Given the description of an element on the screen output the (x, y) to click on. 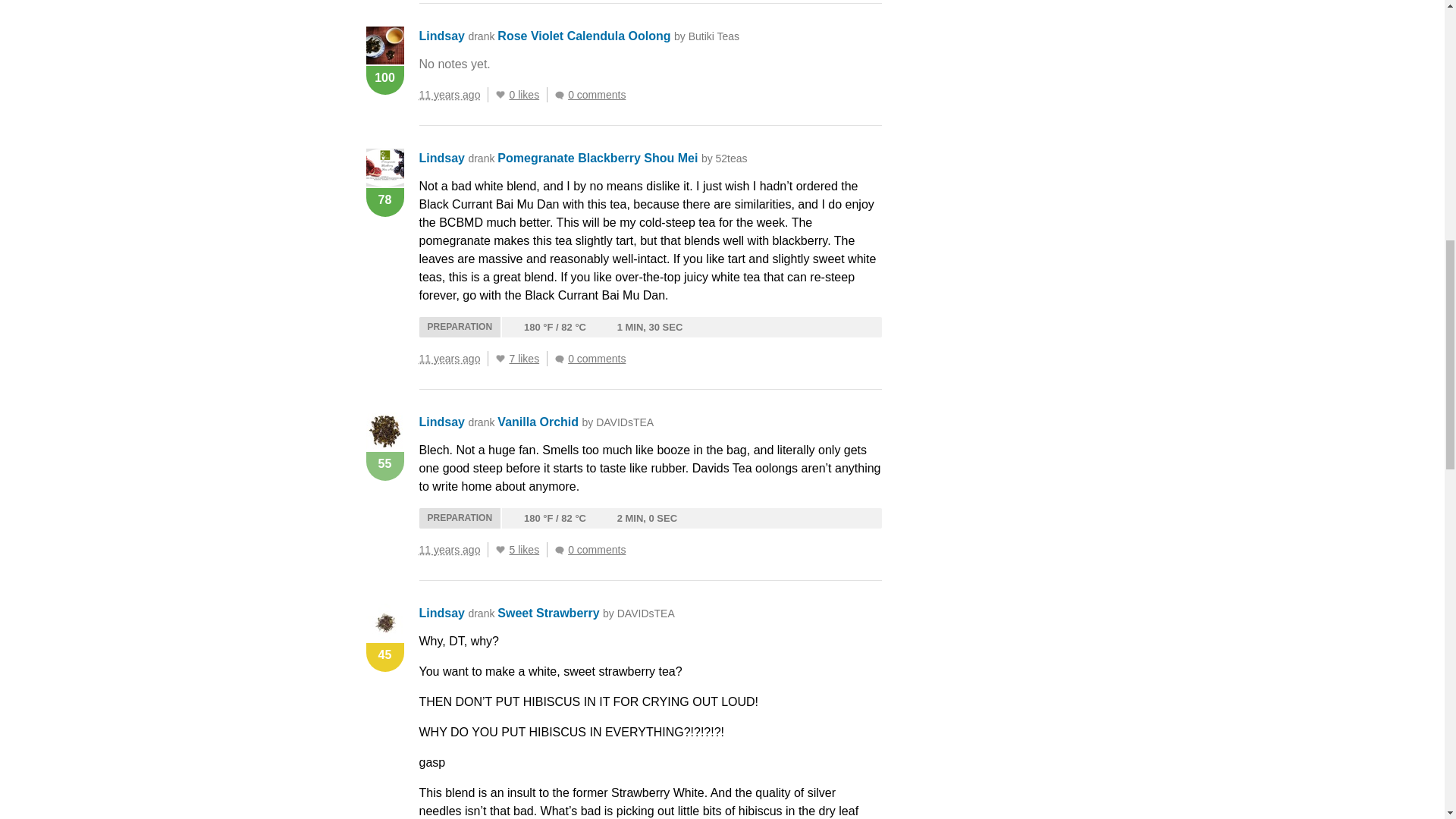
2013-05-15T18:19:56Z (449, 358)
Like This (500, 94)
2013-05-27T10:27:50Z (449, 94)
